Given the description of an element on the screen output the (x, y) to click on. 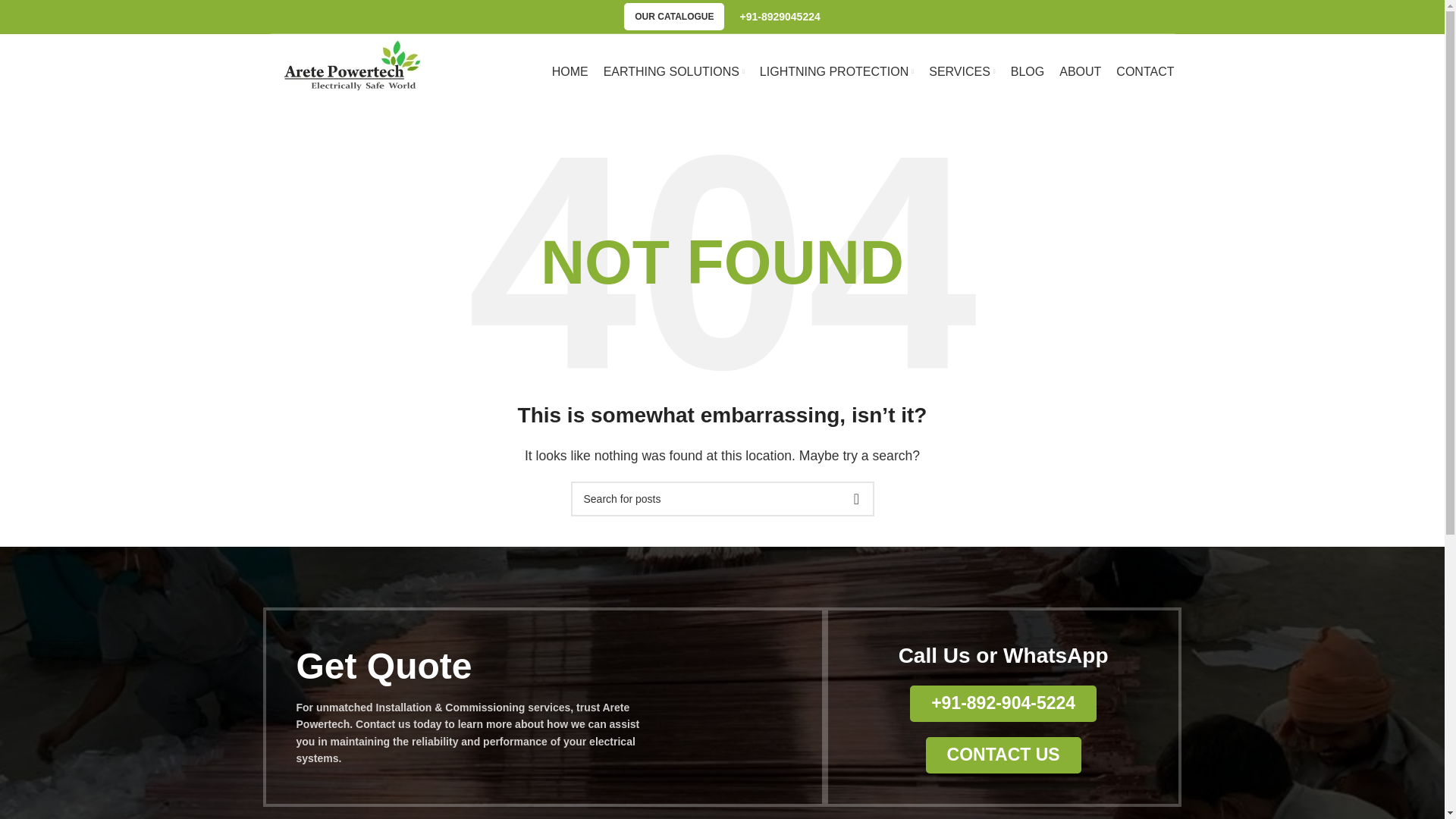
LIGHTNING PROTECTION (837, 71)
SERVICES (961, 71)
Search for posts (721, 498)
ABOUT (1079, 71)
SEARCH (855, 498)
CONTACT US (1003, 755)
OUR CATALOGUE (673, 16)
HOME (569, 71)
EARTHING SOLUTIONS (674, 71)
CONTACT (1144, 71)
